Given the description of an element on the screen output the (x, y) to click on. 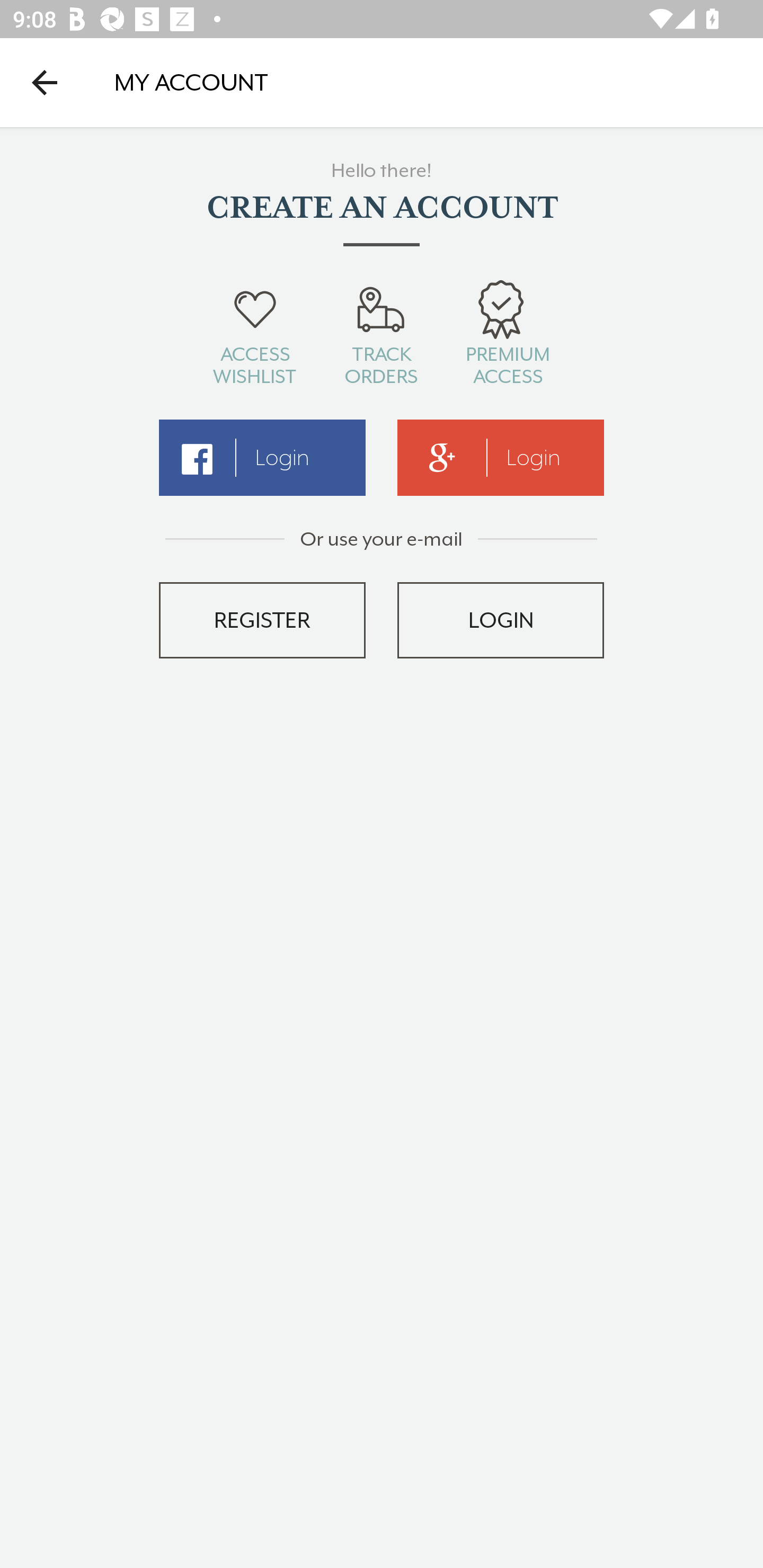
Navigate up (44, 82)
 Login (261, 457)
Login (500, 457)
REGISTER (261, 619)
LOGIN (500, 619)
